Given the description of an element on the screen output the (x, y) to click on. 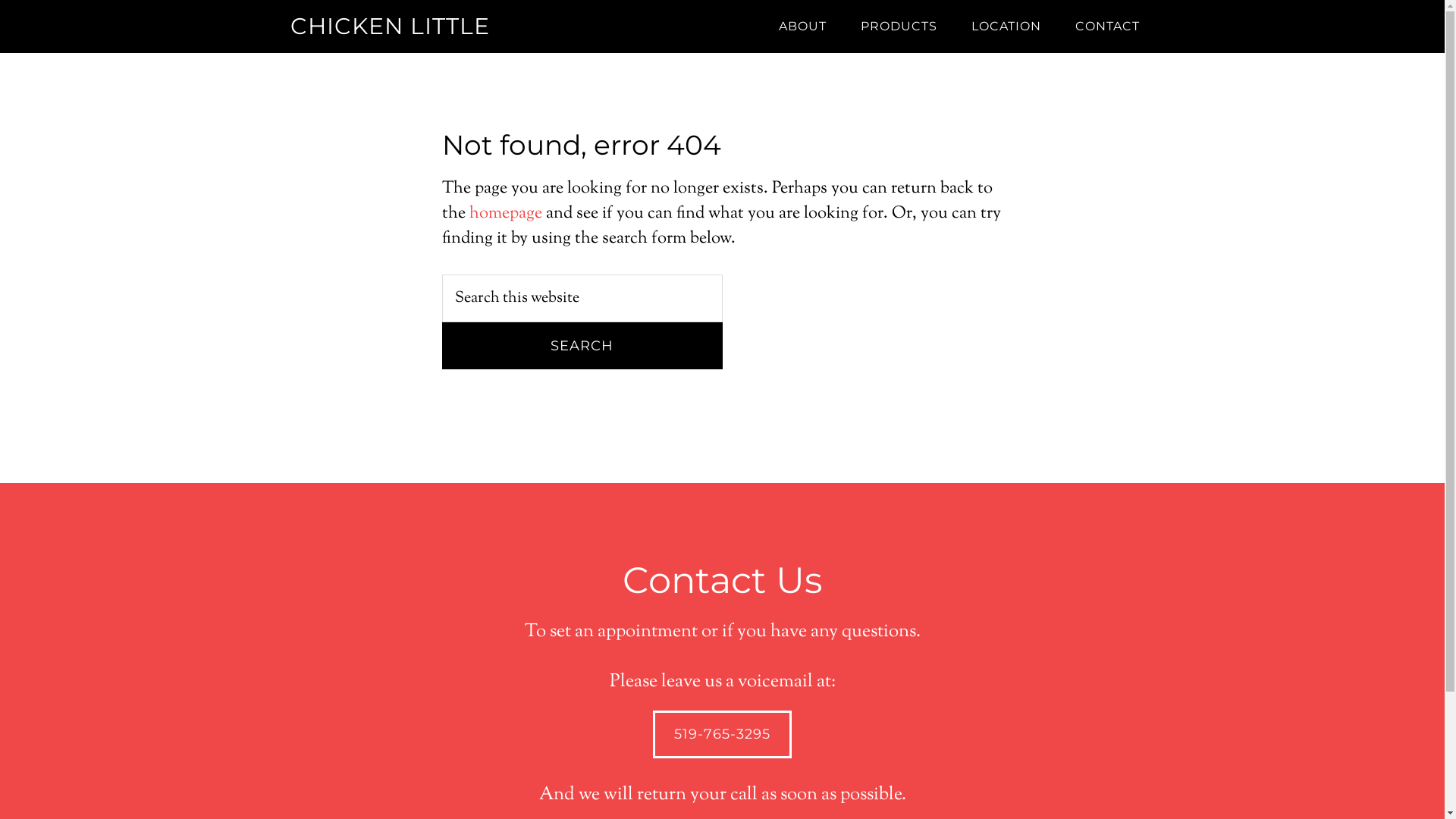
CONTACT Element type: text (1107, 26)
CHICKEN LITTLE Element type: text (389, 26)
LOCATION Element type: text (1005, 26)
Search Element type: text (581, 345)
519-765-3295 Element type: text (721, 734)
homepage Element type: text (504, 213)
PRODUCTS Element type: text (897, 26)
ABOUT Element type: text (801, 26)
